Given the description of an element on the screen output the (x, y) to click on. 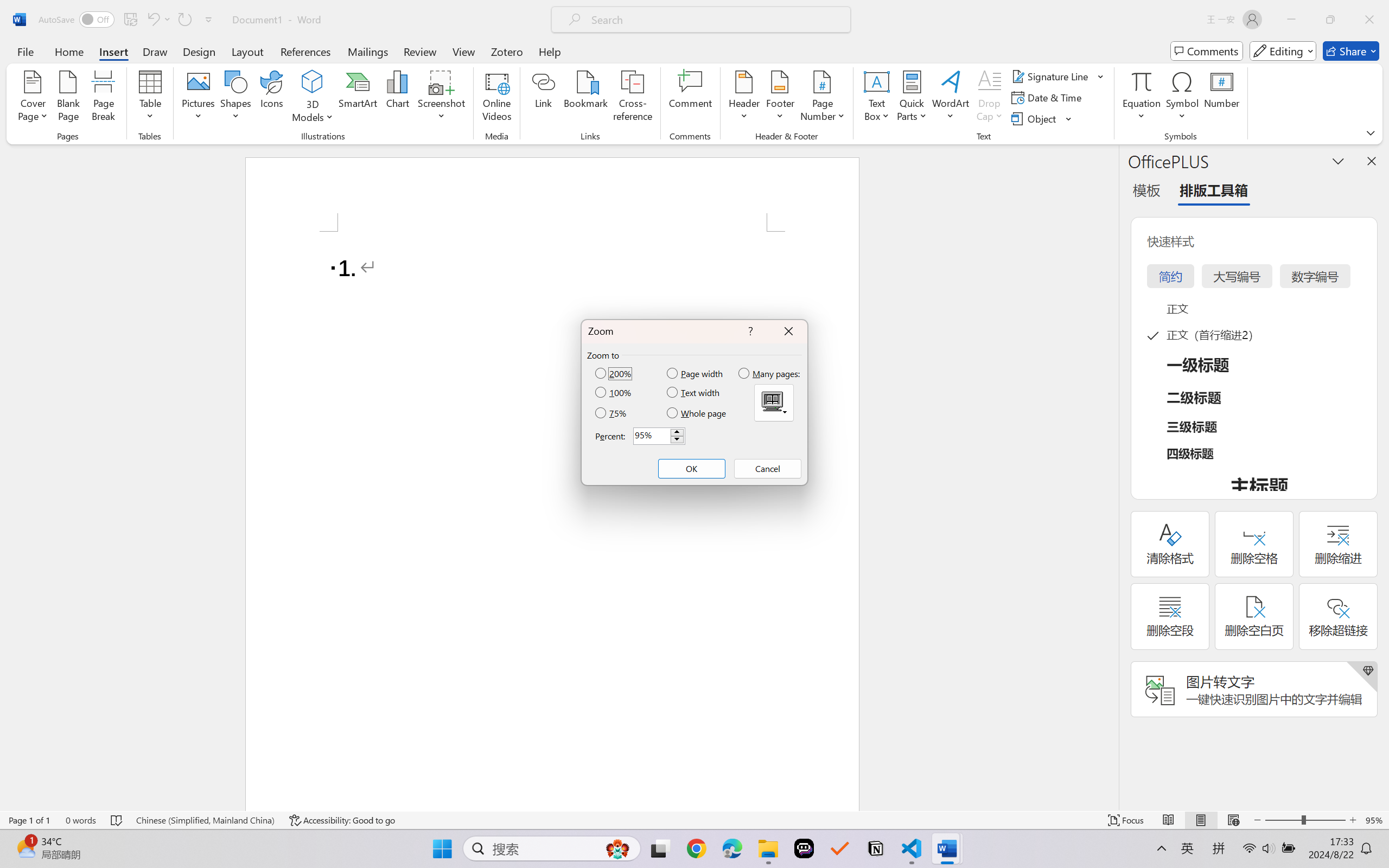
Shapes (235, 97)
Number... (1221, 97)
Object... (1035, 118)
Footer (780, 97)
Page Number (822, 97)
